Given the description of an element on the screen output the (x, y) to click on. 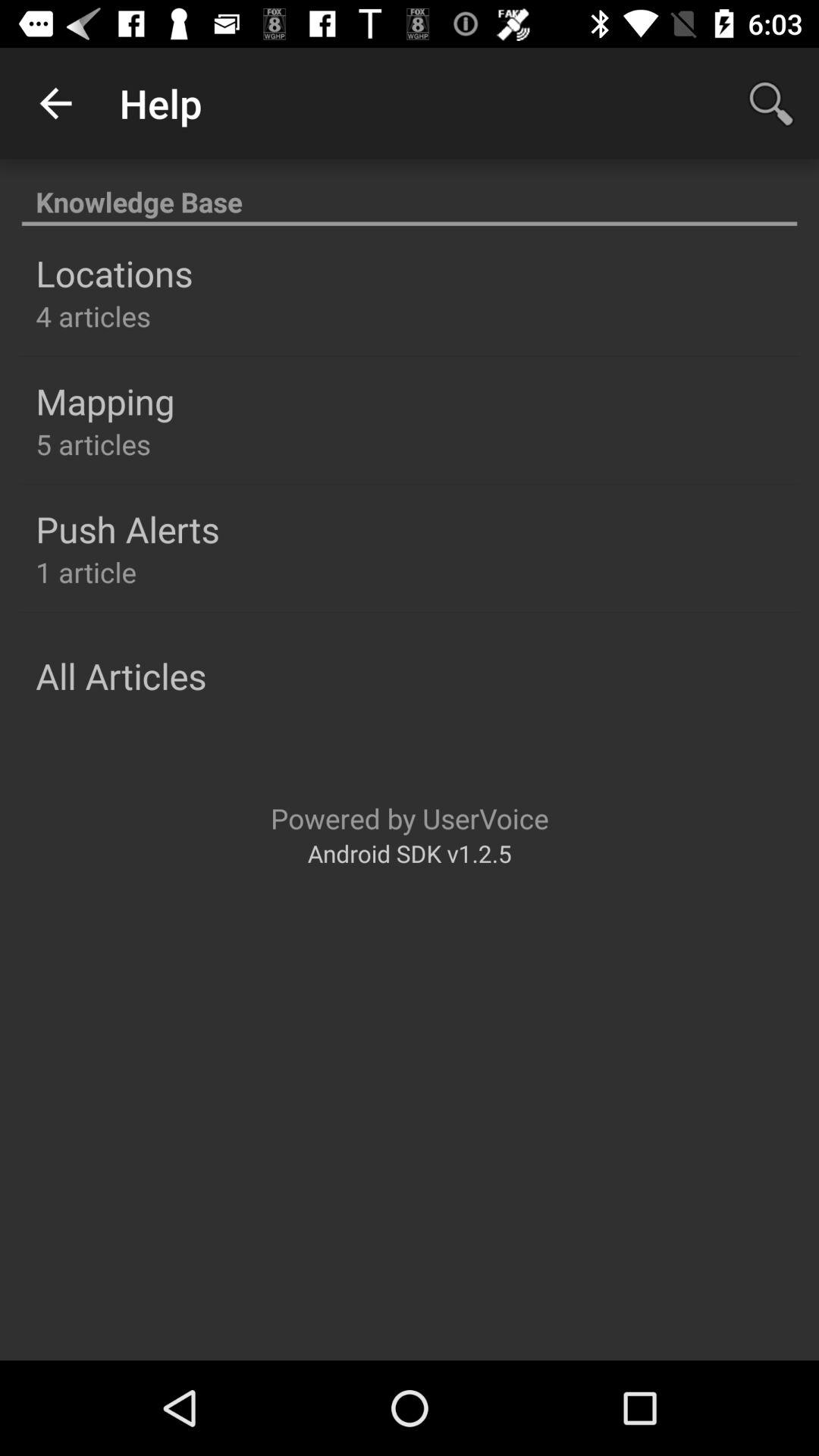
scroll to knowledge base item (409, 193)
